Given the description of an element on the screen output the (x, y) to click on. 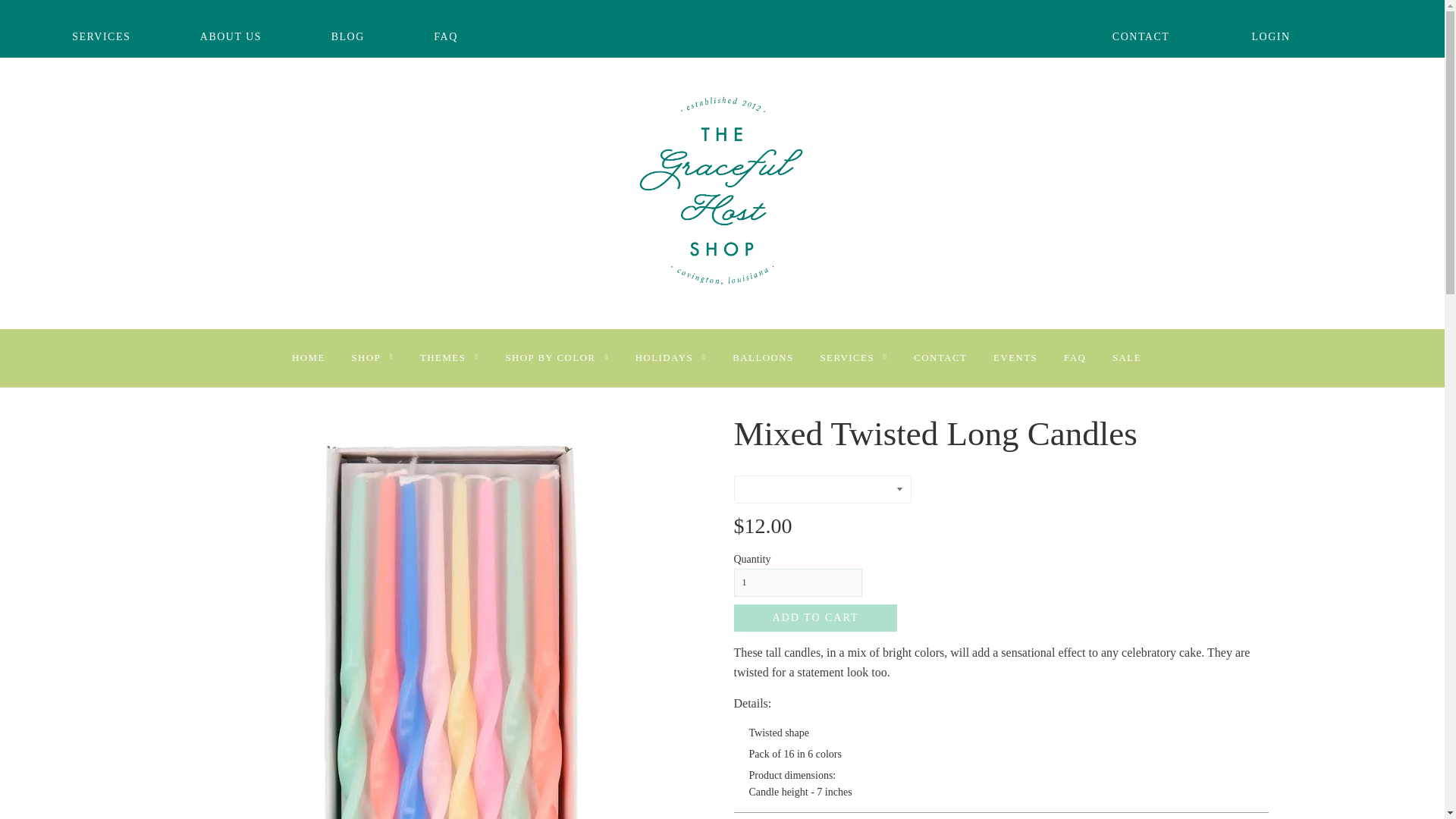
1 (797, 582)
